Given the description of an element on the screen output the (x, y) to click on. 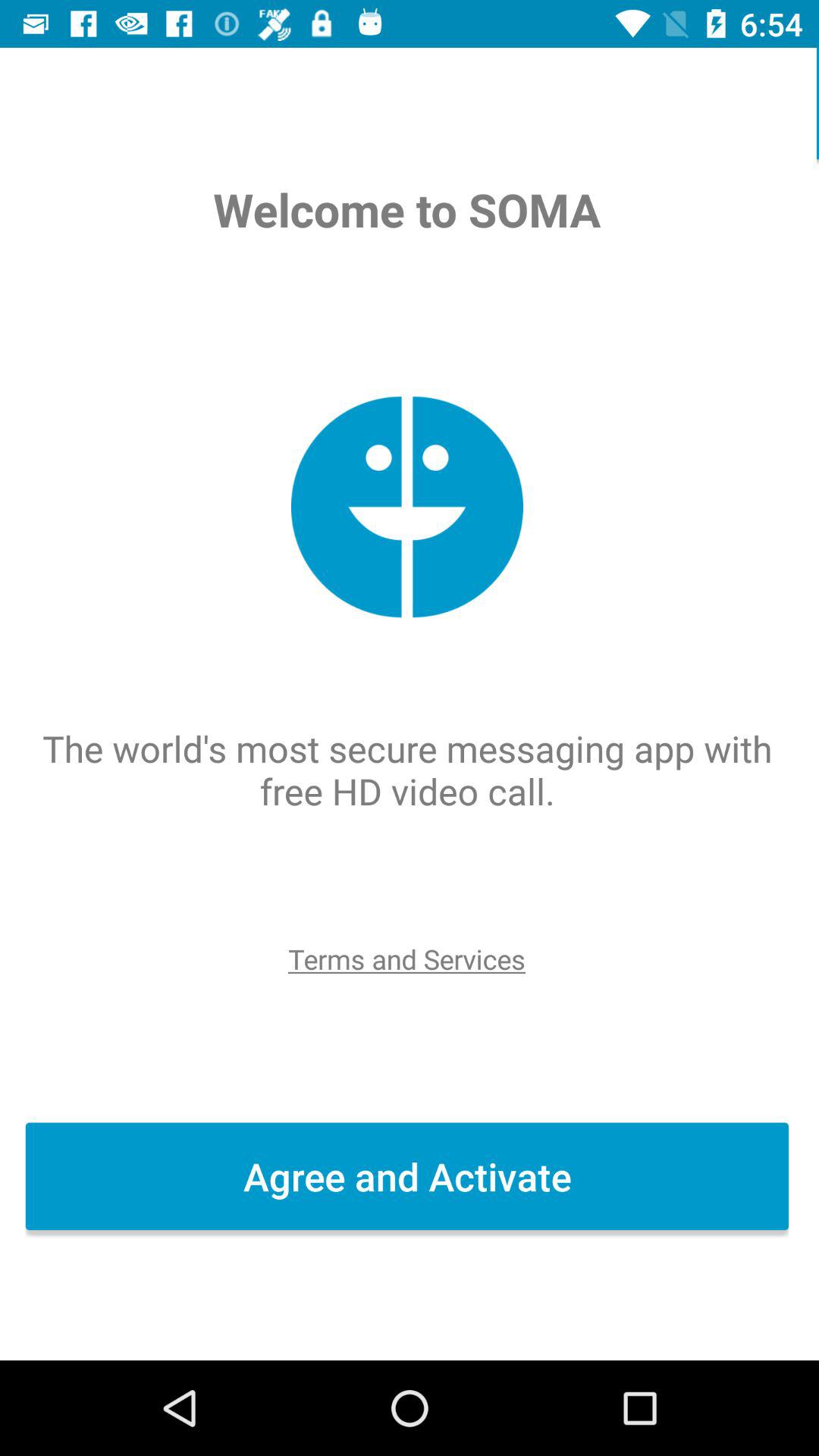
swipe to the terms and services (408, 959)
